Given the description of an element on the screen output the (x, y) to click on. 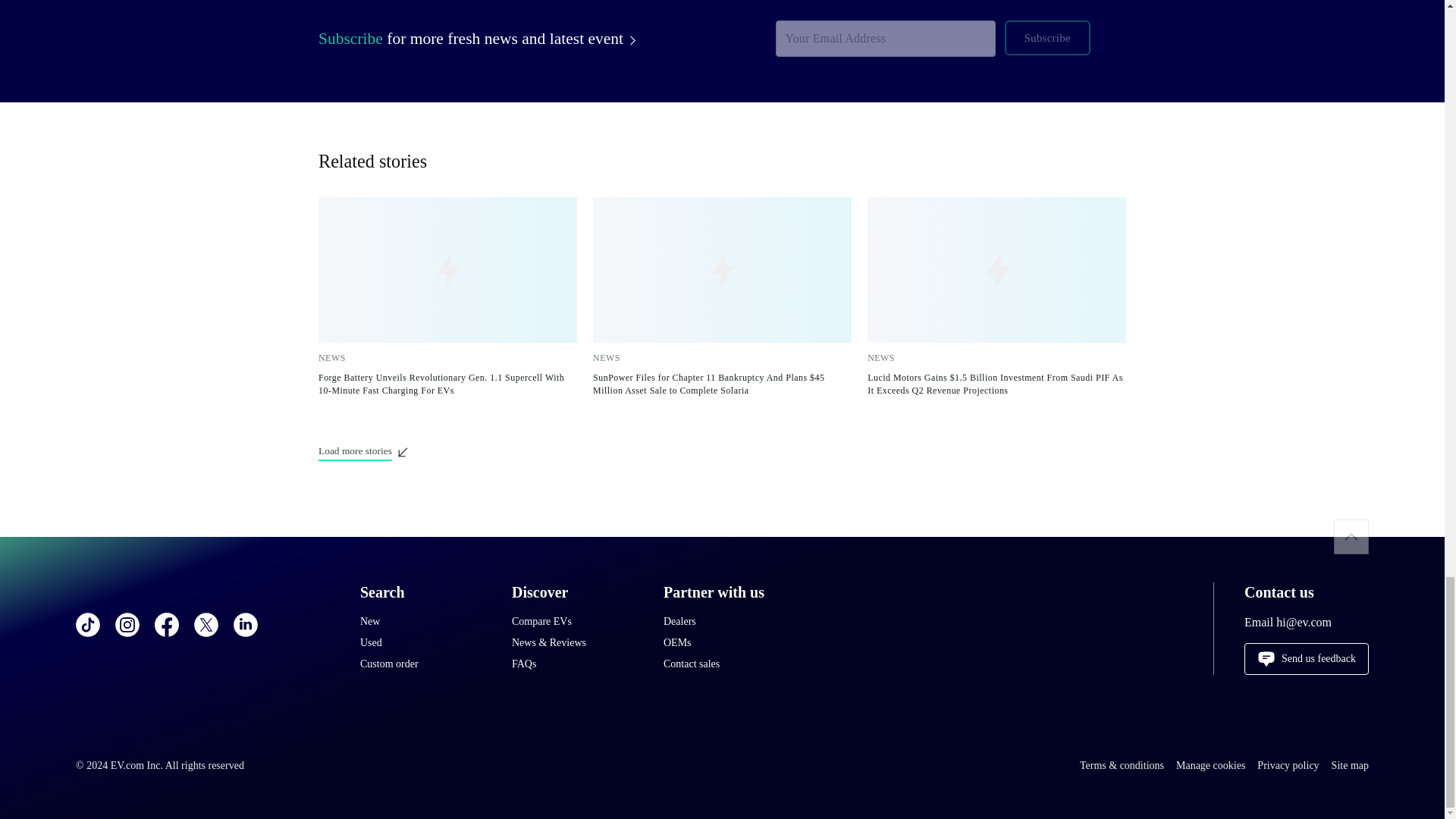
Compare EVs (572, 621)
Custom order (420, 663)
Dealers (723, 621)
OEMs (723, 642)
Subscribe (1046, 37)
Send us feedback (1306, 658)
Used (420, 642)
Contact sales (723, 663)
New (420, 621)
FAQs (572, 663)
